Given the description of an element on the screen output the (x, y) to click on. 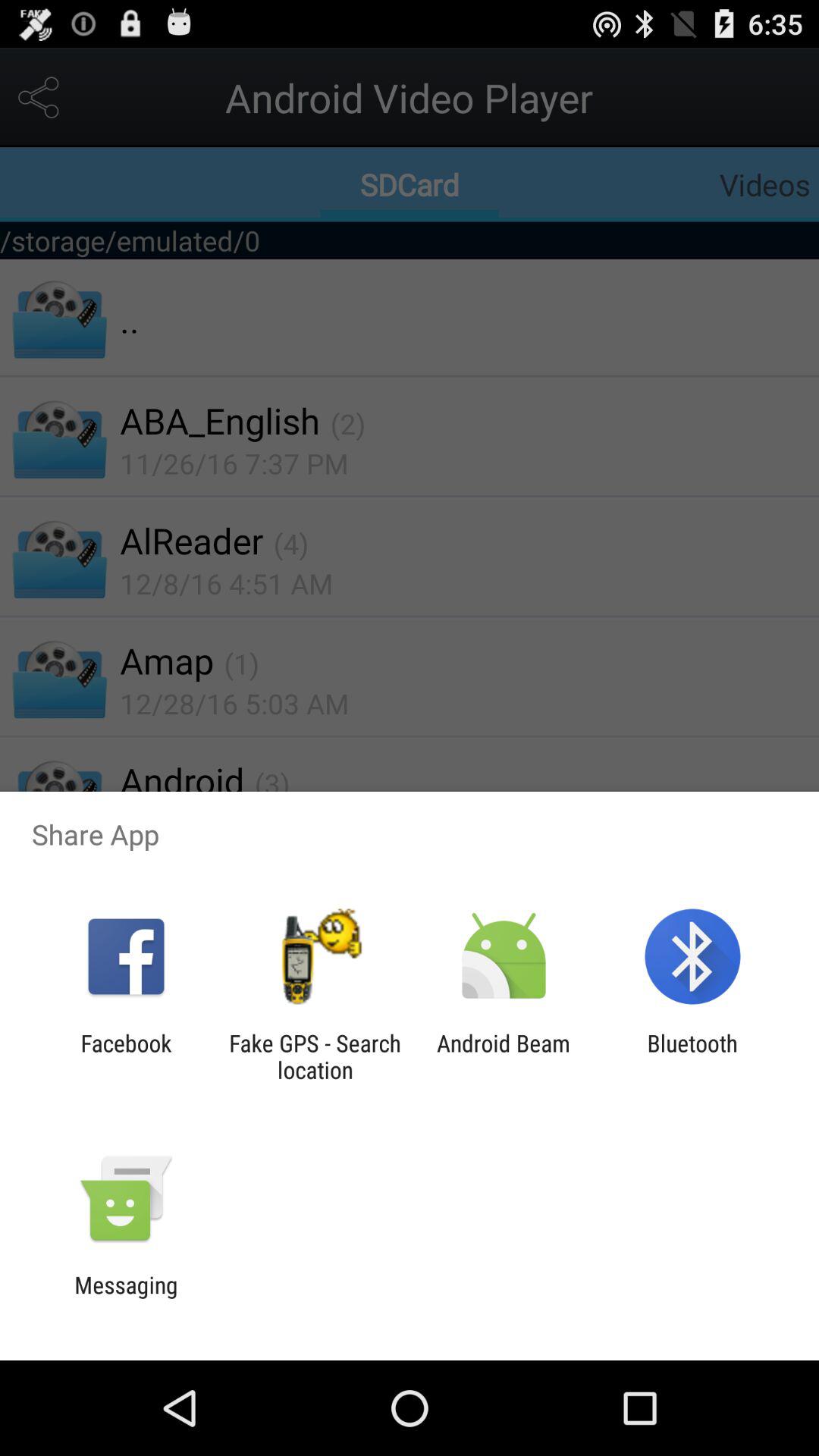
press the android beam (503, 1056)
